Given the description of an element on the screen output the (x, y) to click on. 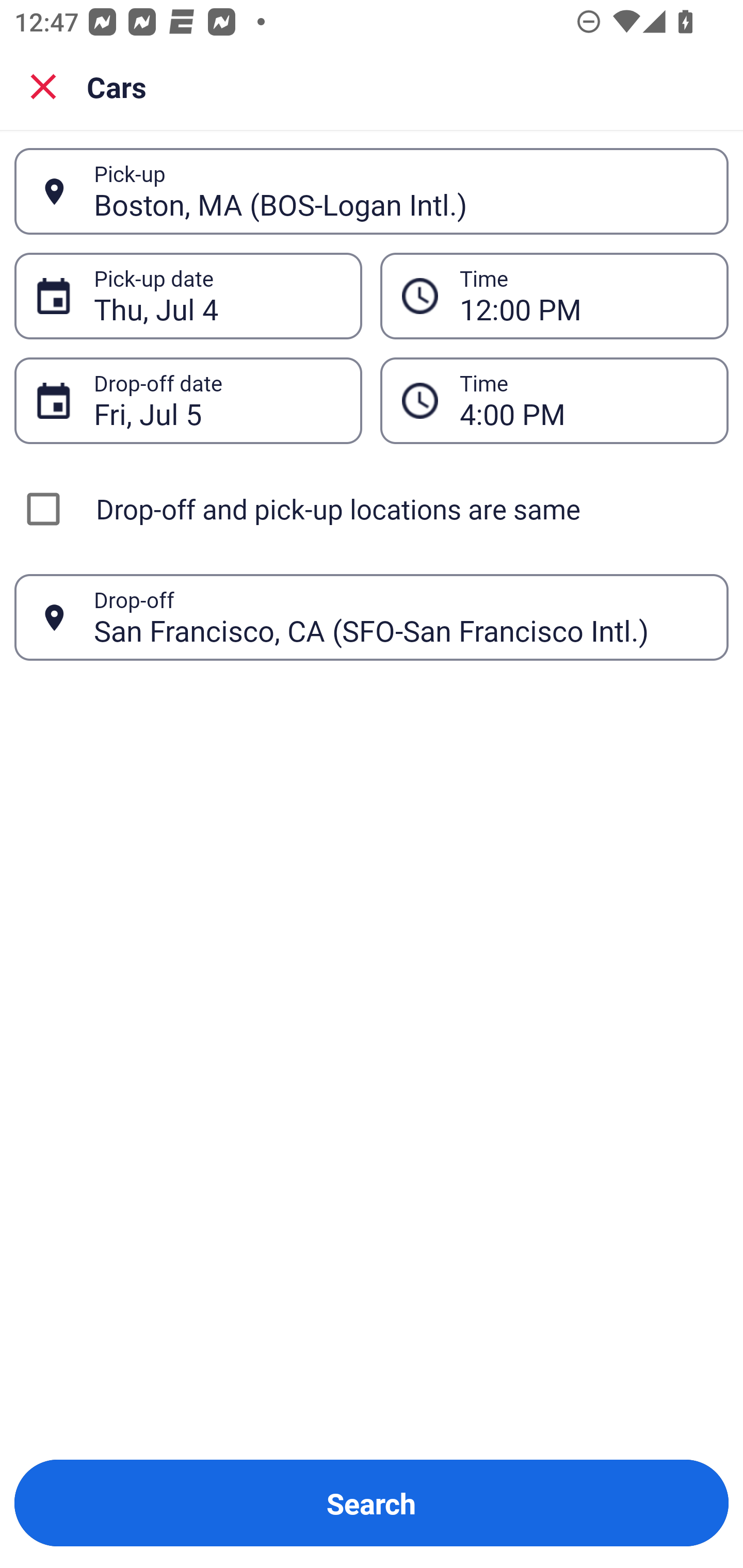
Close search screen (43, 86)
Boston, MA (BOS-Logan Intl.) Pick-up (371, 191)
Boston, MA (BOS-Logan Intl.) (399, 191)
Thu, Jul 4 Pick-up date (188, 295)
12:00 PM (554, 295)
Thu, Jul 4 (216, 296)
12:00 PM (582, 296)
Fri, Jul 5 Drop-off date (188, 400)
4:00 PM (554, 400)
Fri, Jul 5 (216, 400)
4:00 PM (582, 400)
Drop-off and pick-up locations are same (371, 508)
San Francisco, CA (SFO-San Francisco Intl.) (399, 616)
Search Button Search (371, 1502)
